Given the description of an element on the screen output the (x, y) to click on. 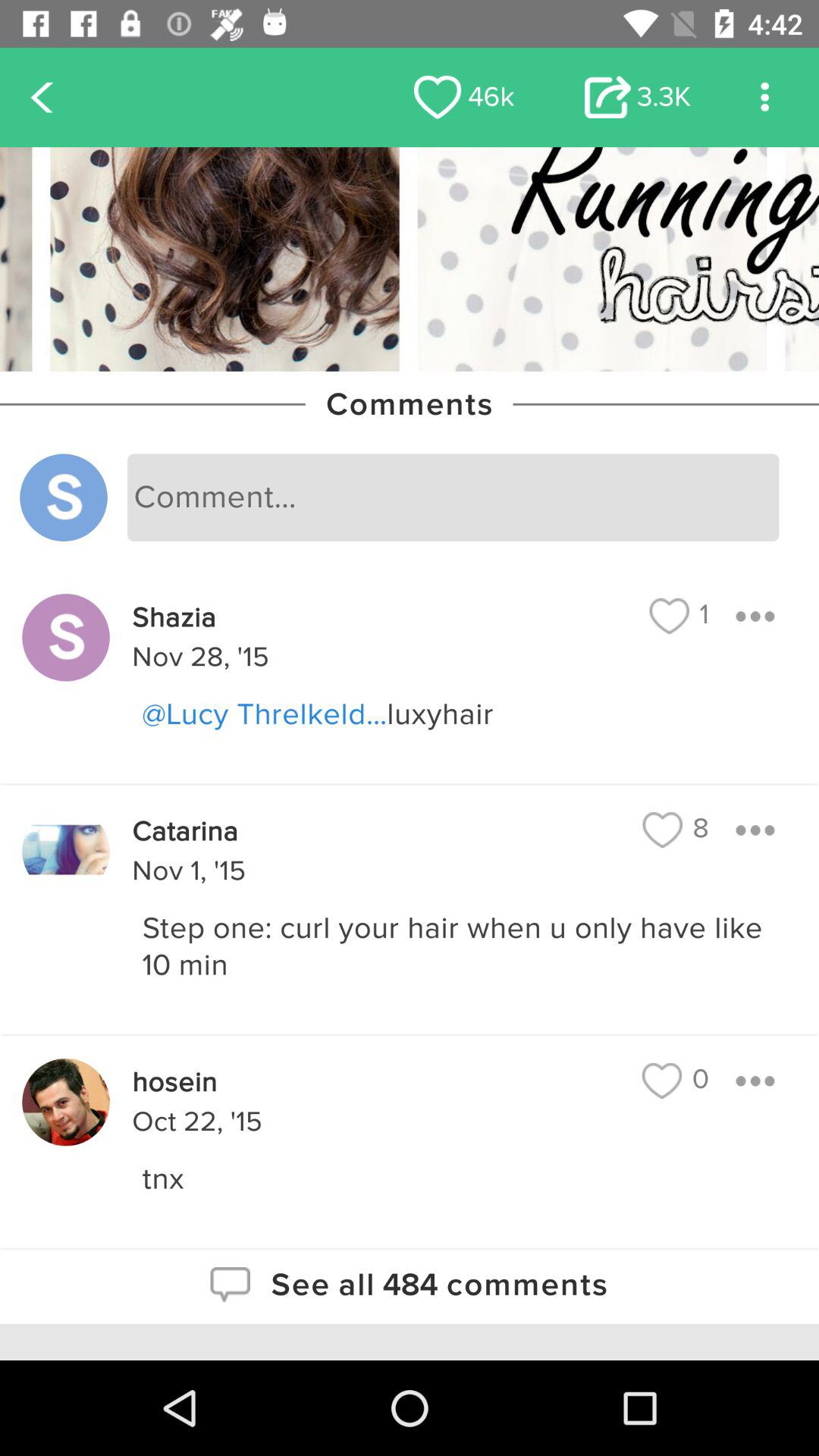
swipe until the 0 item (675, 1080)
